Given the description of an element on the screen output the (x, y) to click on. 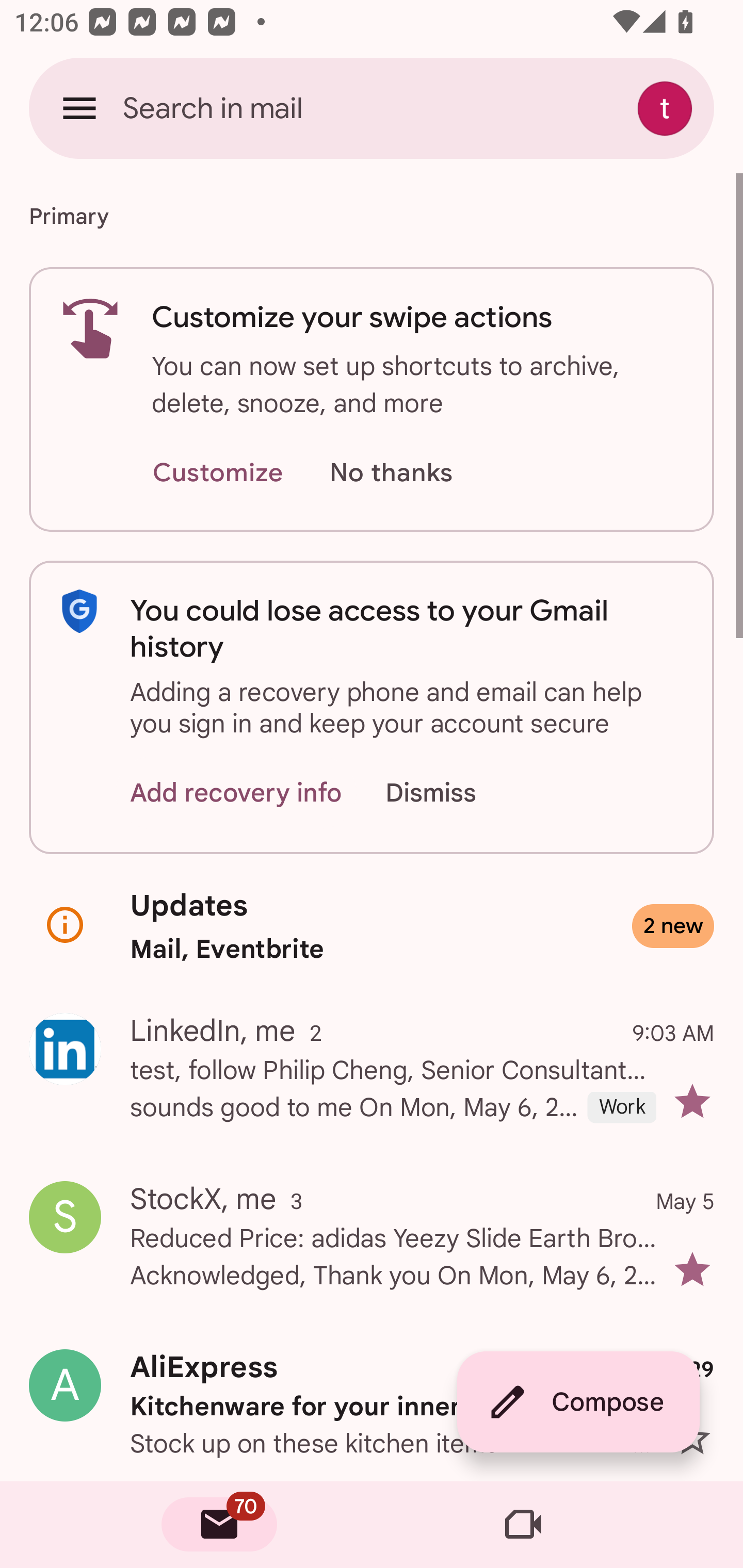
Open navigation drawer (79, 108)
Customize (217, 473)
No thanks (390, 473)
Add recovery info (235, 792)
Dismiss (449, 792)
Updates Mail, Eventbrite 2 new (371, 926)
Compose (577, 1401)
Meet (523, 1524)
